Given the description of an element on the screen output the (x, y) to click on. 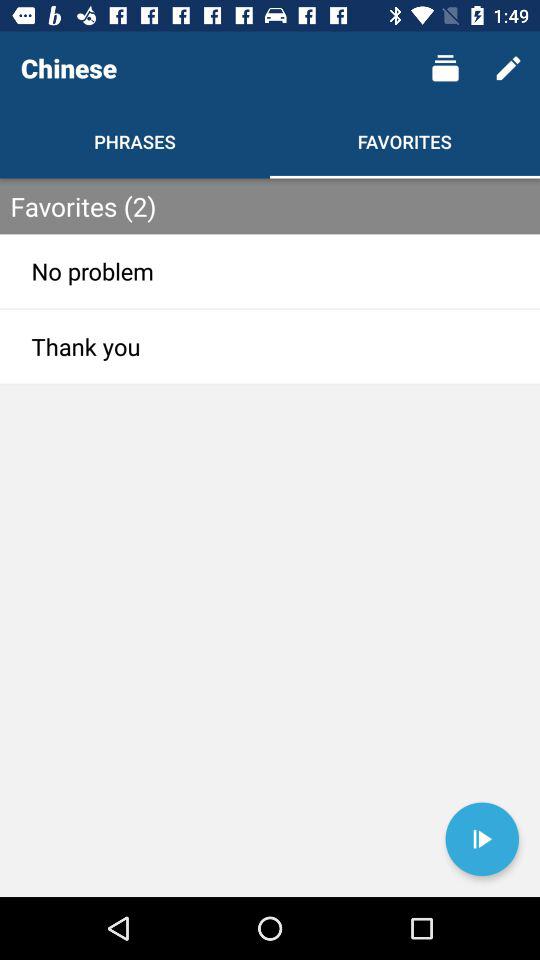
open the item above the favorites item (444, 67)
